Given the description of an element on the screen output the (x, y) to click on. 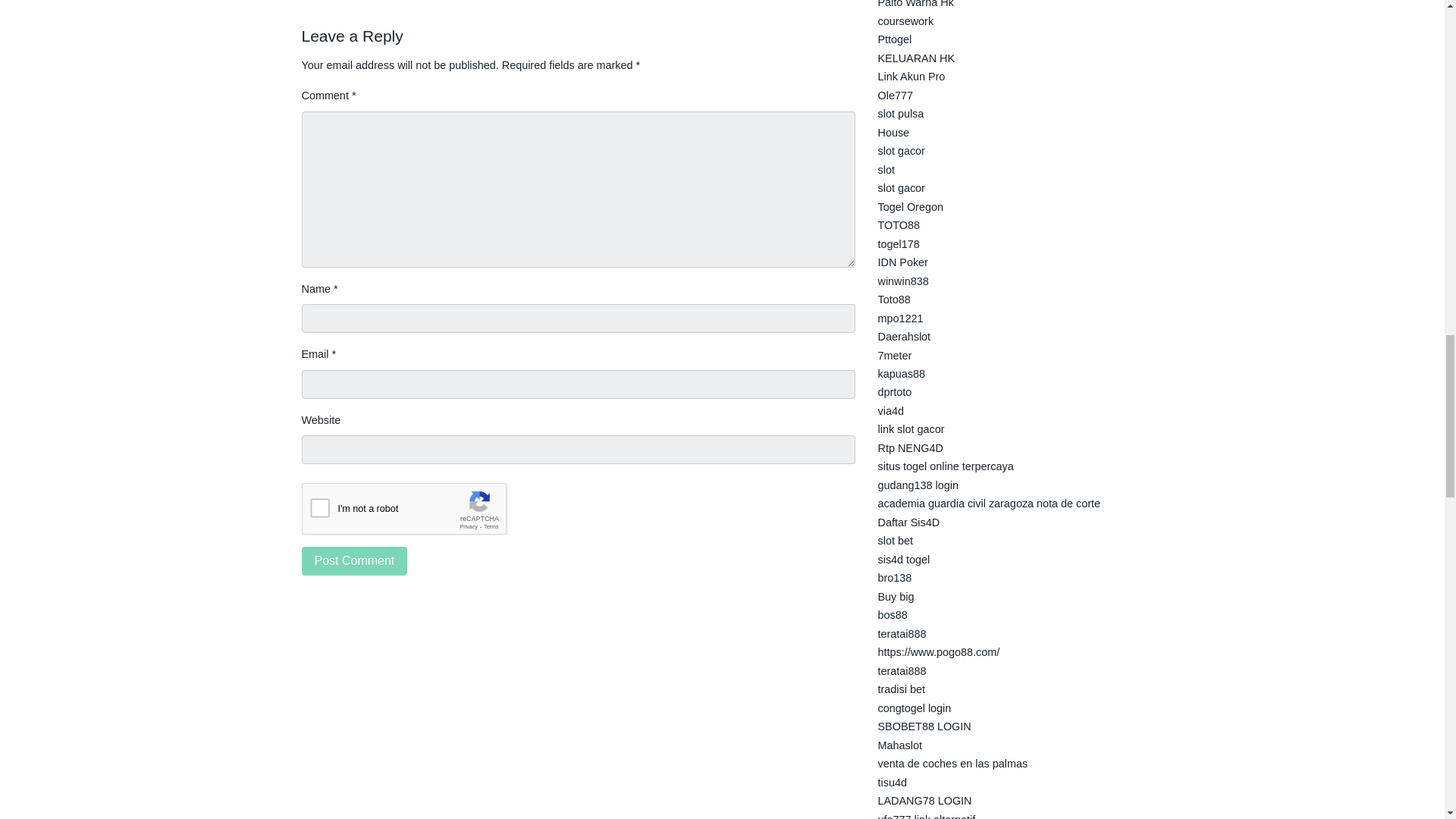
Post Comment (354, 561)
Post Comment (354, 561)
reCAPTCHA (416, 512)
